Given the description of an element on the screen output the (x, y) to click on. 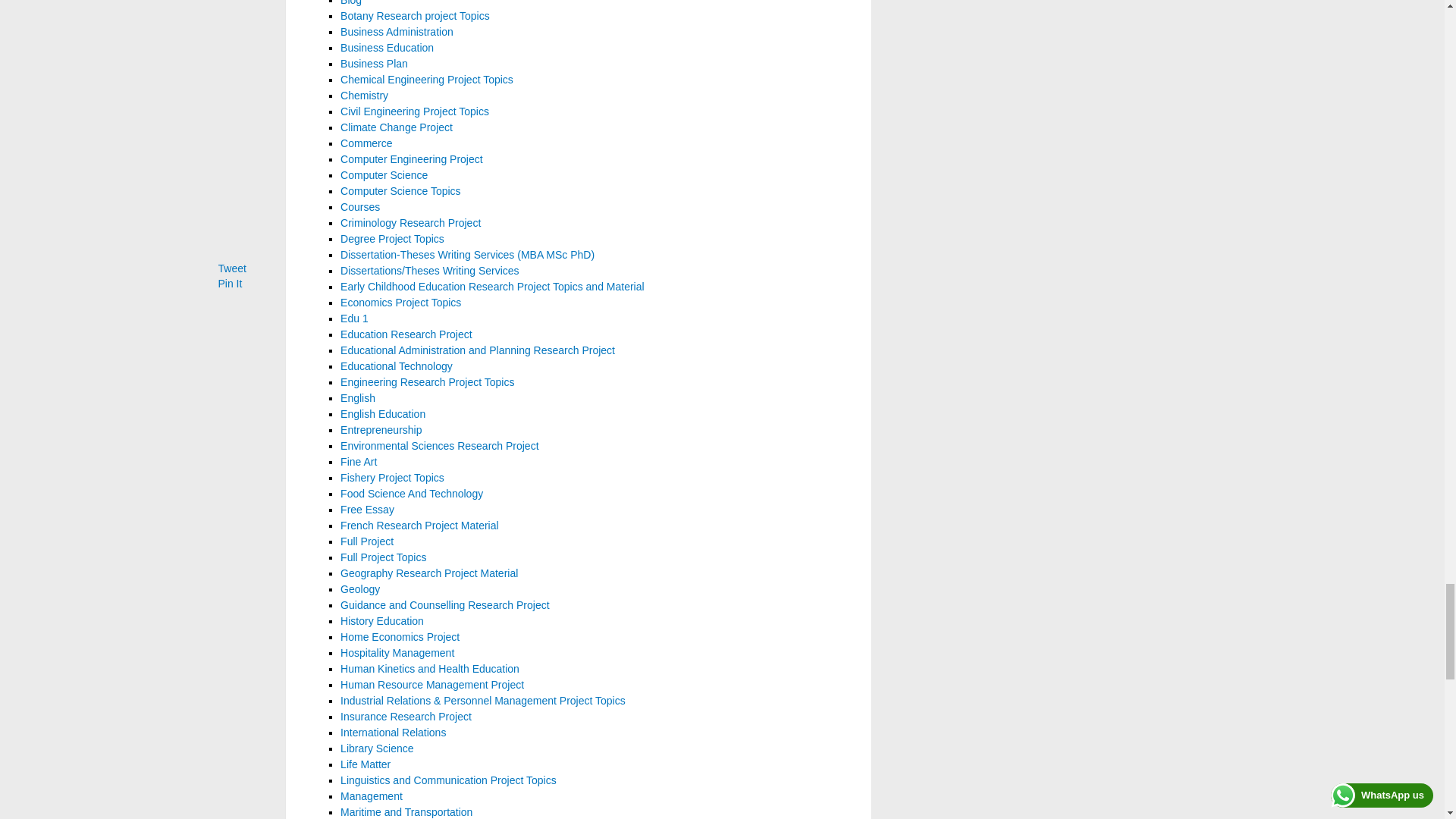
Commerce (365, 143)
Computer Engineering Project (411, 159)
Climate Change Project (396, 127)
Business Education (386, 47)
Blog (350, 2)
Chemistry (364, 95)
Business Administration (396, 31)
Business Plan (373, 63)
Botany Research project Topics (414, 15)
Chemical Engineering Project Topics (426, 79)
